Given the description of an element on the screen output the (x, y) to click on. 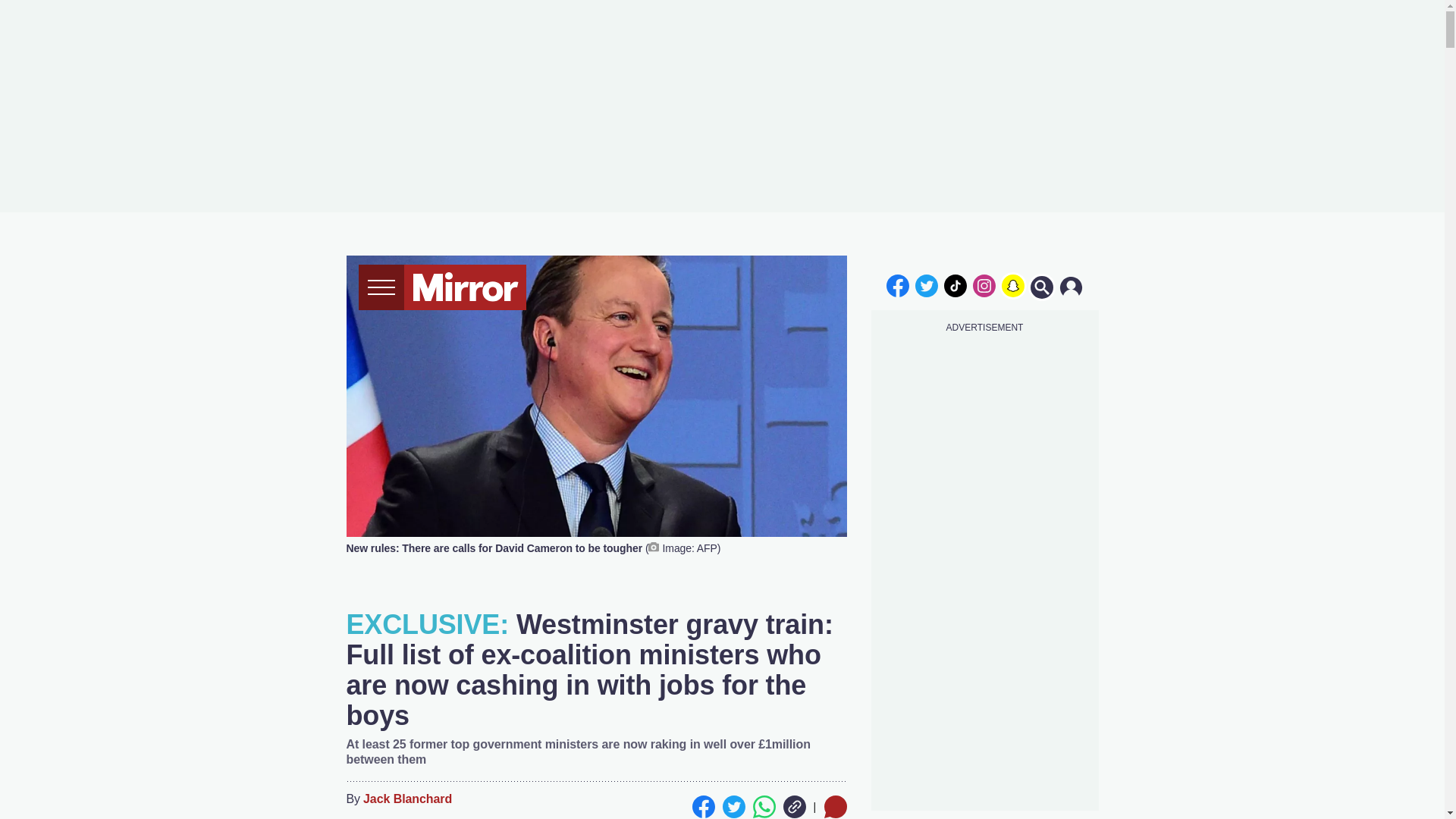
Whatsapp (763, 806)
tiktok (955, 285)
snapchat (1012, 285)
twitter (926, 285)
instagram (984, 285)
Comments (834, 806)
facebook (897, 285)
Jack Blanchard (406, 799)
Twitter (733, 806)
Facebook (702, 806)
